Given the description of an element on the screen output the (x, y) to click on. 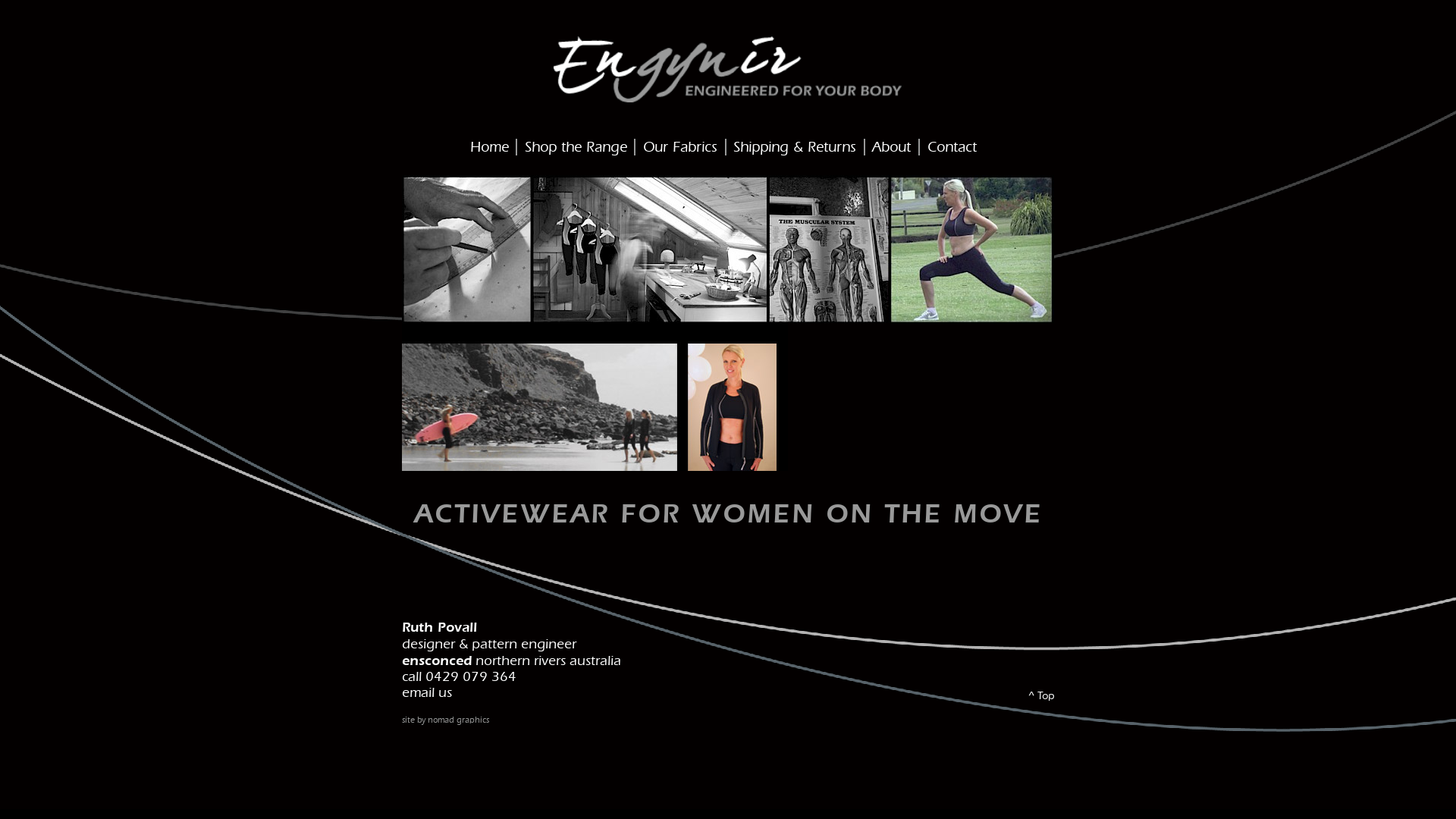
Contact Element type: text (951, 148)
Shop the Range Element type: text (575, 148)
Our Fabrics Element type: text (680, 148)
Engynir  engineered for you body Element type: hover (917, 396)
site by nomad graphics Element type: text (445, 720)
email us Element type: text (426, 693)
About Element type: text (891, 148)
Shipping & Returns Element type: text (794, 148)
Home Element type: text (489, 148)
^ Top Element type: text (1041, 696)
